Given the description of an element on the screen output the (x, y) to click on. 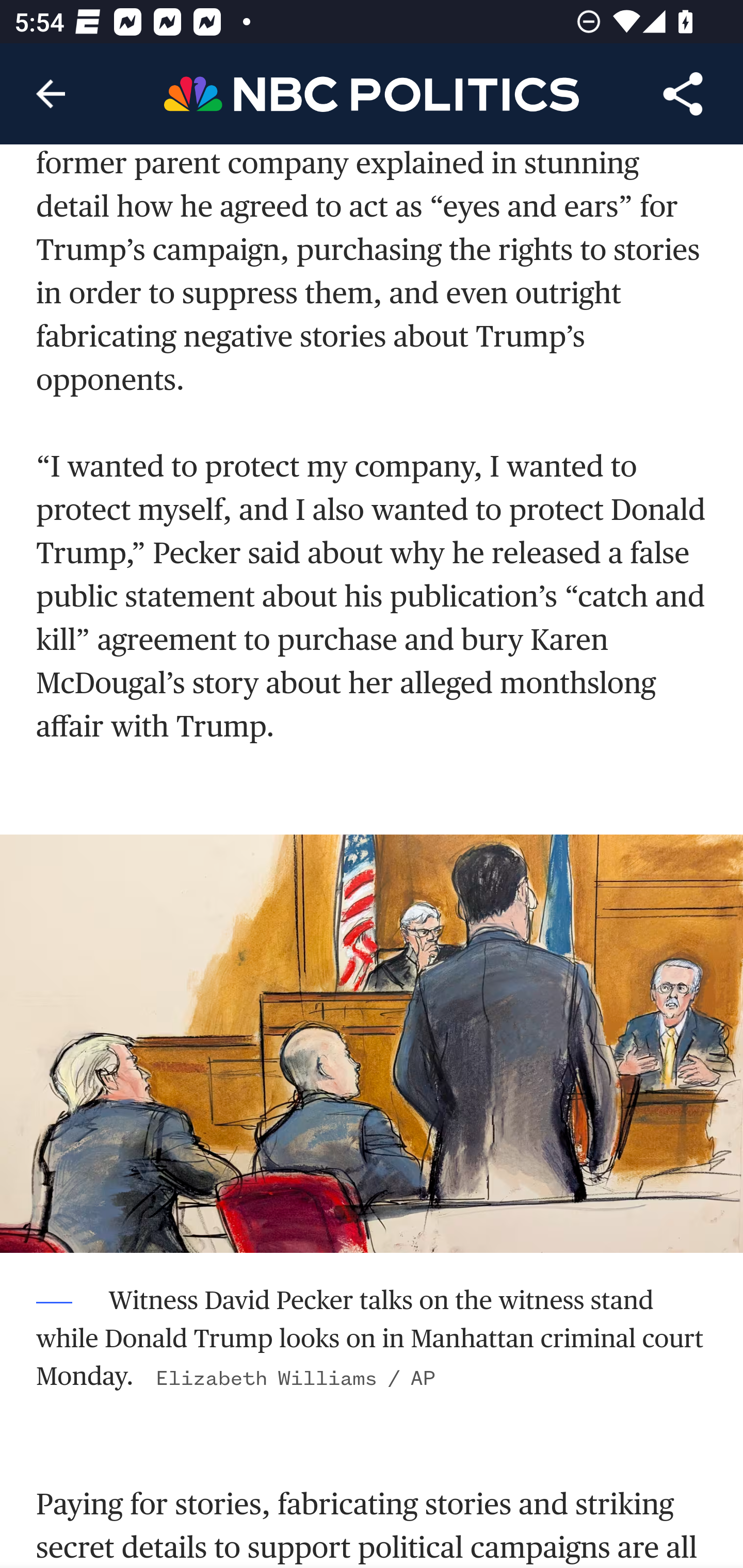
Navigate up (50, 93)
Share Article, button (683, 94)
Header, NBC Politics (371, 93)
